Given the description of an element on the screen output the (x, y) to click on. 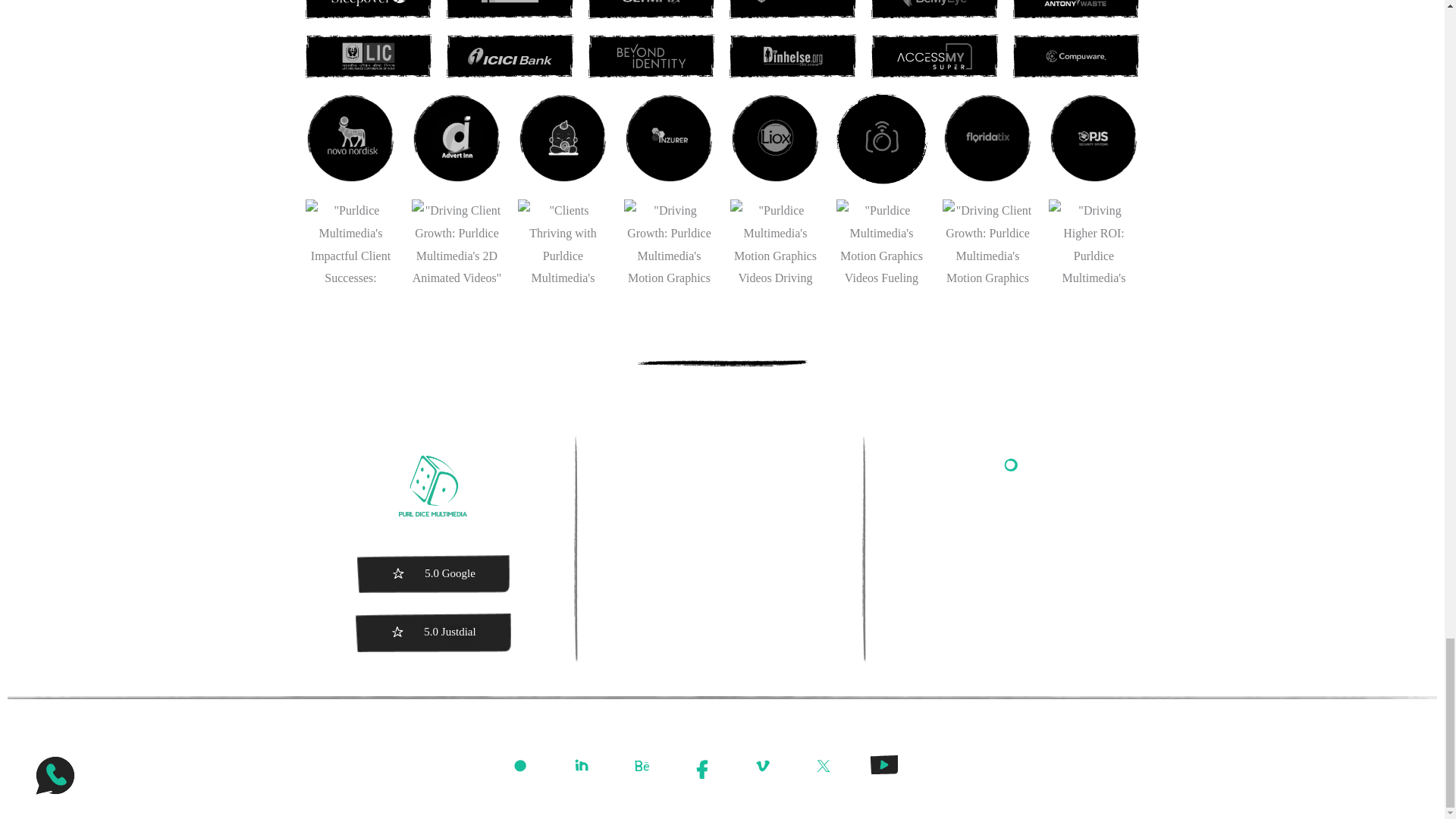
Career (722, 612)
About Us (722, 449)
5.0 Justdial (433, 632)
Our Process (722, 490)
FAQ (722, 530)
Contact Us (722, 571)
5.0 Google (433, 574)
